Given the description of an element on the screen output the (x, y) to click on. 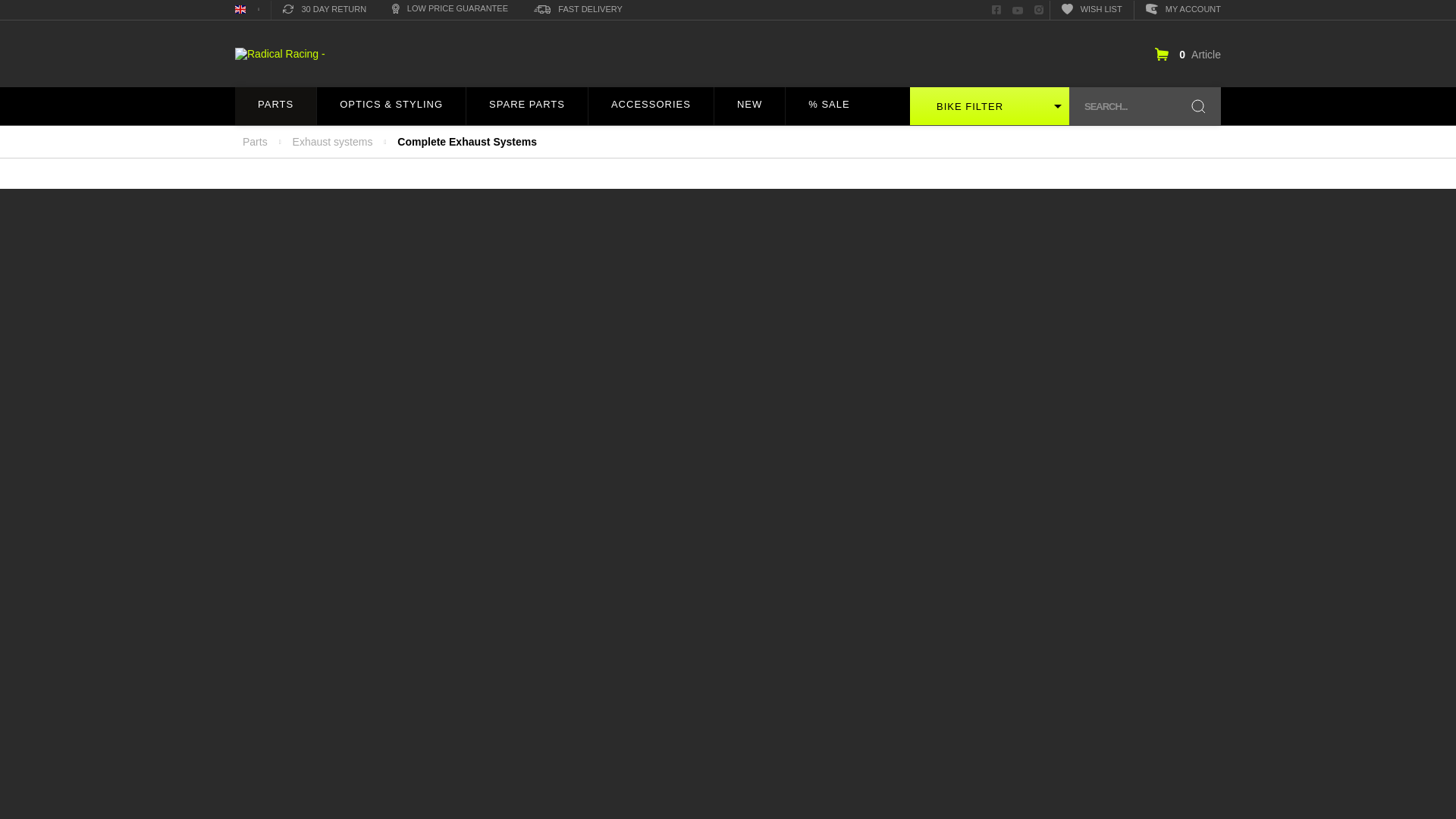
Bike Auswahl (989, 105)
PARTS (274, 105)
Accessories (650, 105)
Spare Parts (526, 105)
Spare Parts (526, 105)
ACCESSORIES (650, 105)
MY ACCOUNT (1183, 9)
Wish list (1091, 9)
New (749, 105)
Parts (275, 105)
0 Article (1187, 53)
Parts (274, 105)
Shopping cart (1187, 53)
SPARE PARTS (526, 105)
Accessories (651, 105)
